Given the description of an element on the screen output the (x, y) to click on. 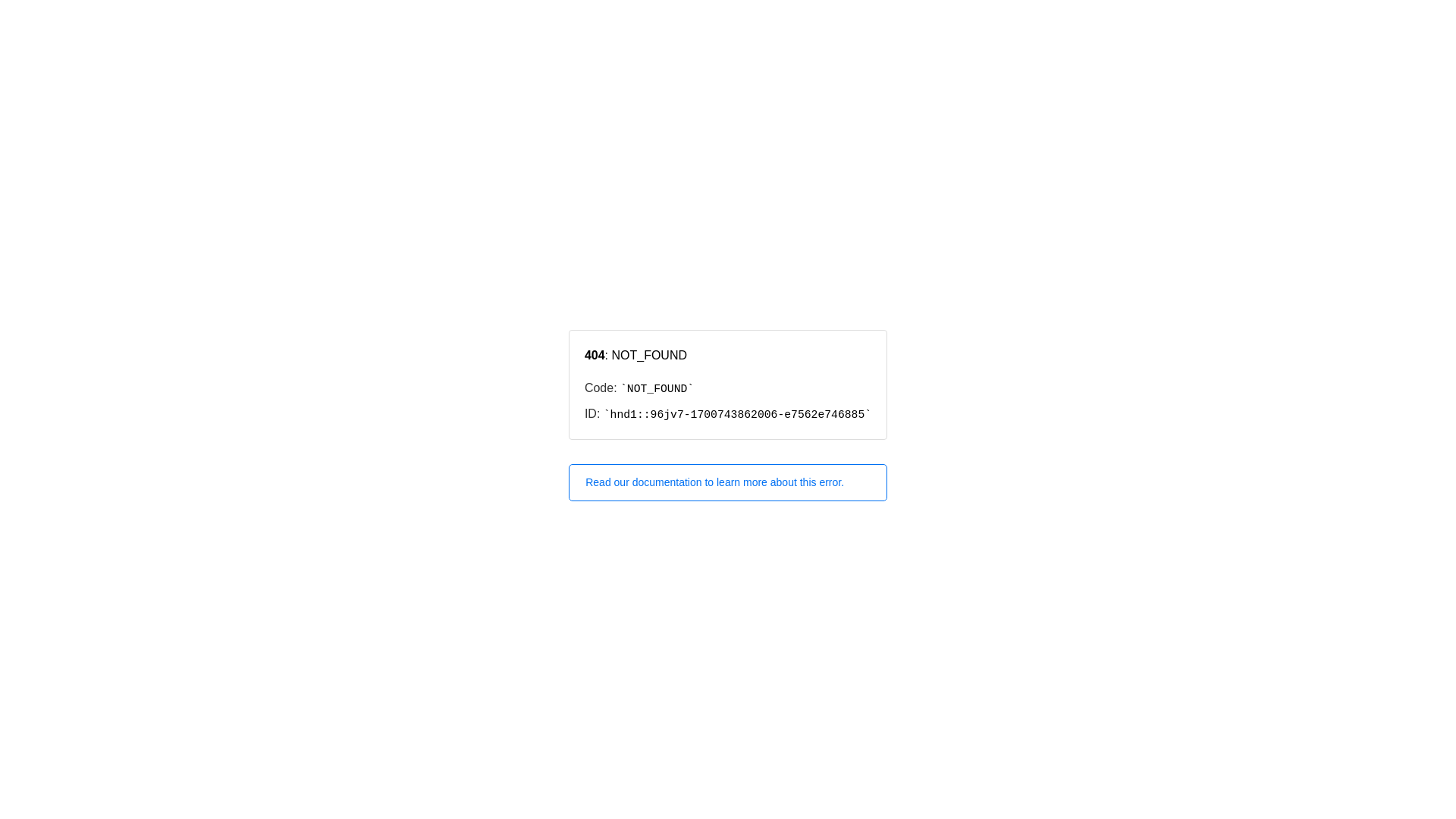
Read our documentation to learn more about this error. Element type: text (727, 482)
